Given the description of an element on the screen output the (x, y) to click on. 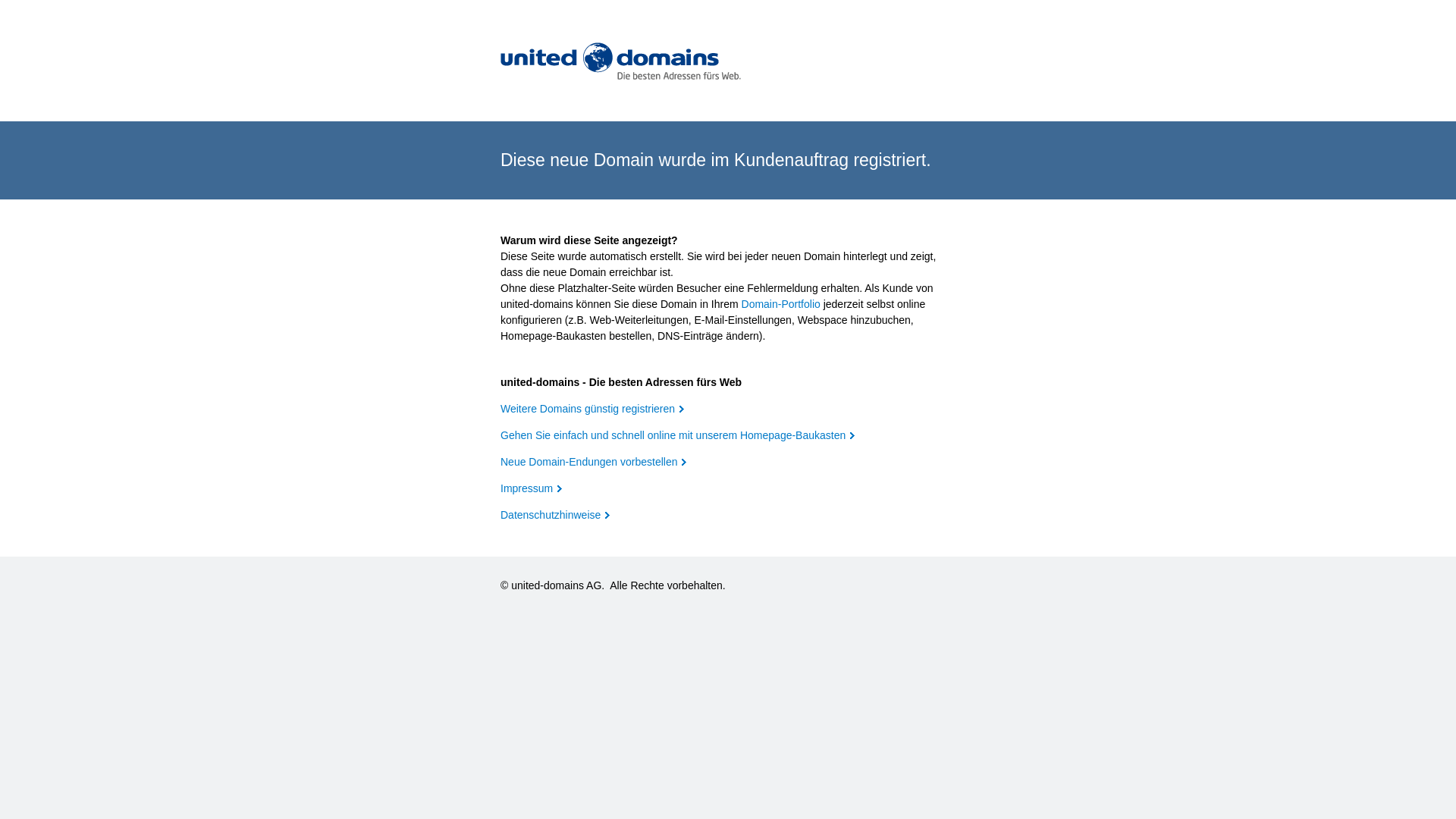
Impressum Element type: text (530, 488)
Neue Domain-Endungen vorbestellen Element type: text (593, 461)
Datenschutzhinweise Element type: text (554, 514)
Domain-Portfolio Element type: text (780, 304)
